Given the description of an element on the screen output the (x, y) to click on. 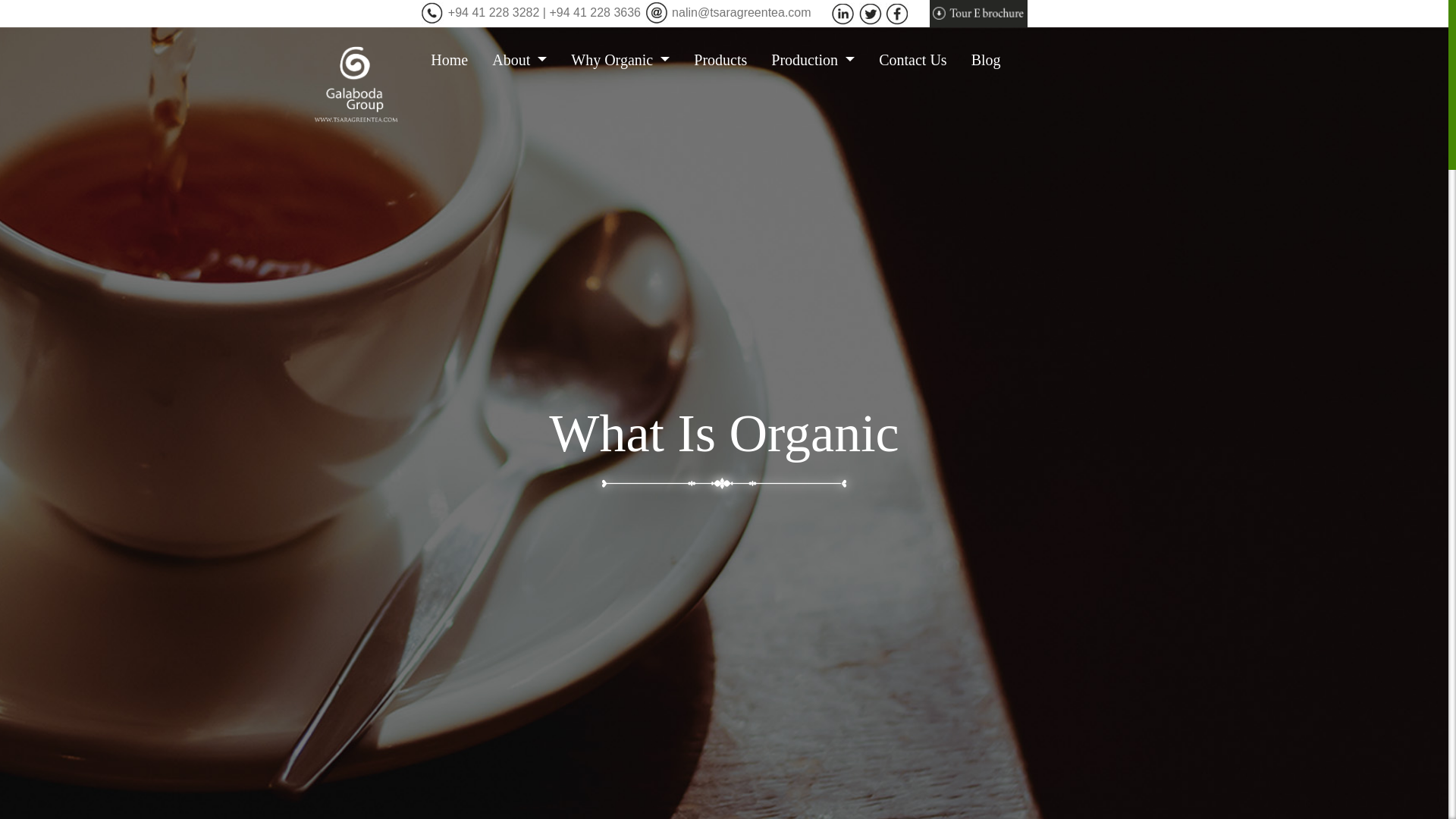
Production (818, 59)
Home (455, 59)
About (525, 59)
Home (455, 59)
Production (818, 59)
Products (726, 59)
About (525, 59)
Why Organic (625, 59)
Why Organic (625, 59)
Blog (992, 59)
Contact Us (917, 59)
Products (726, 59)
